Given the description of an element on the screen output the (x, y) to click on. 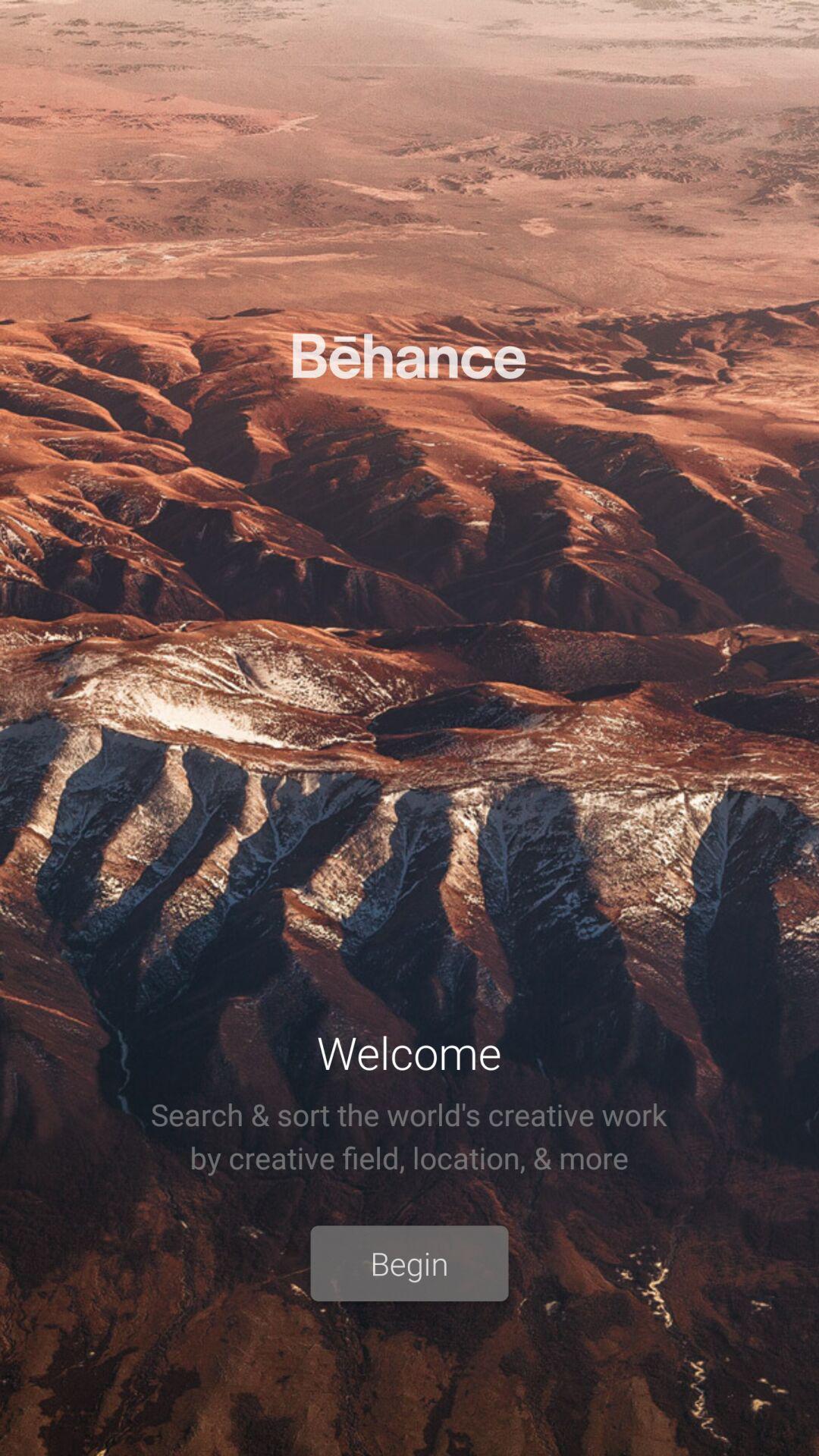
flip to the begin (409, 1263)
